Given the description of an element on the screen output the (x, y) to click on. 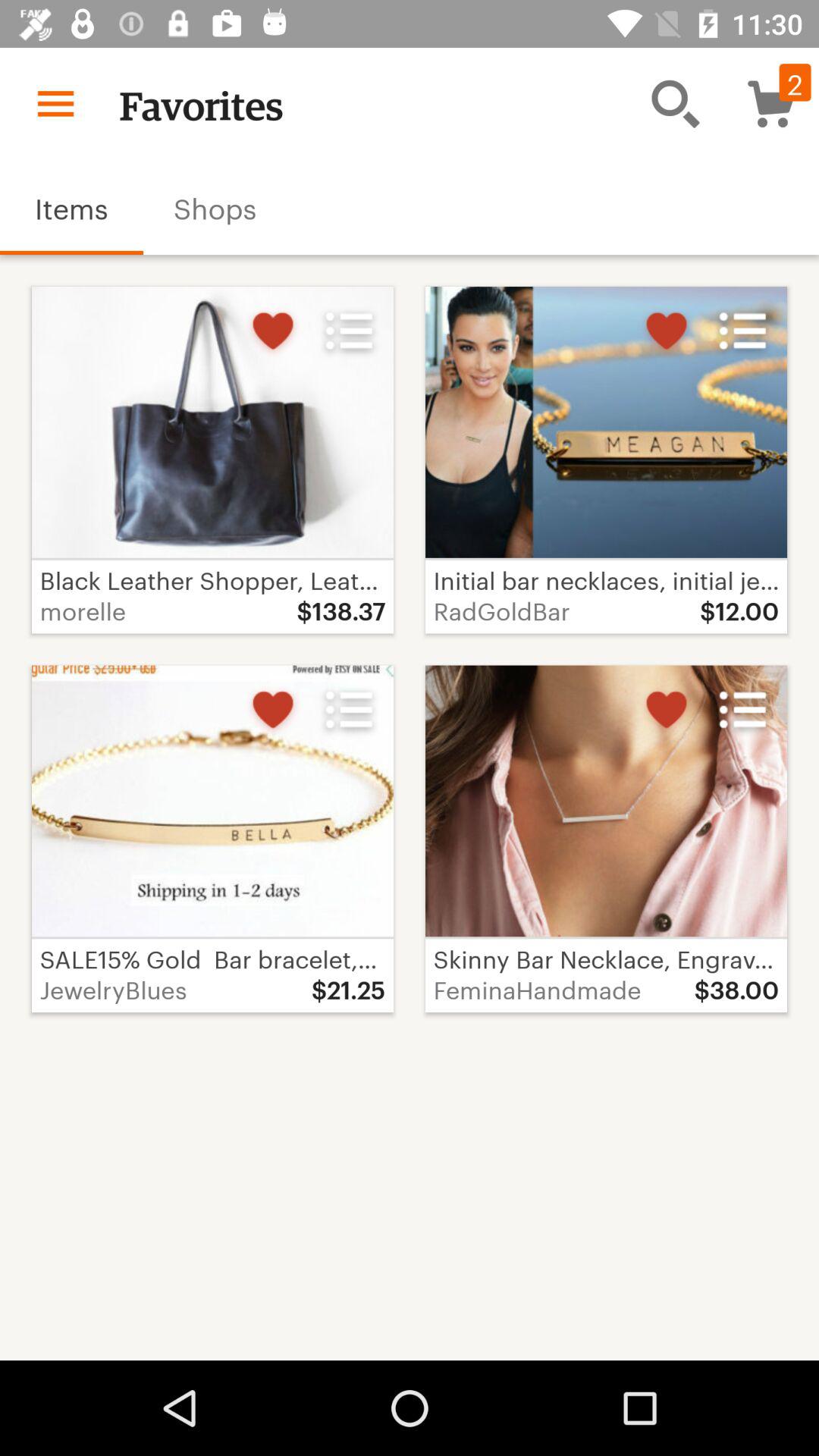
launch icon next to favorites app (675, 103)
